Given the description of an element on the screen output the (x, y) to click on. 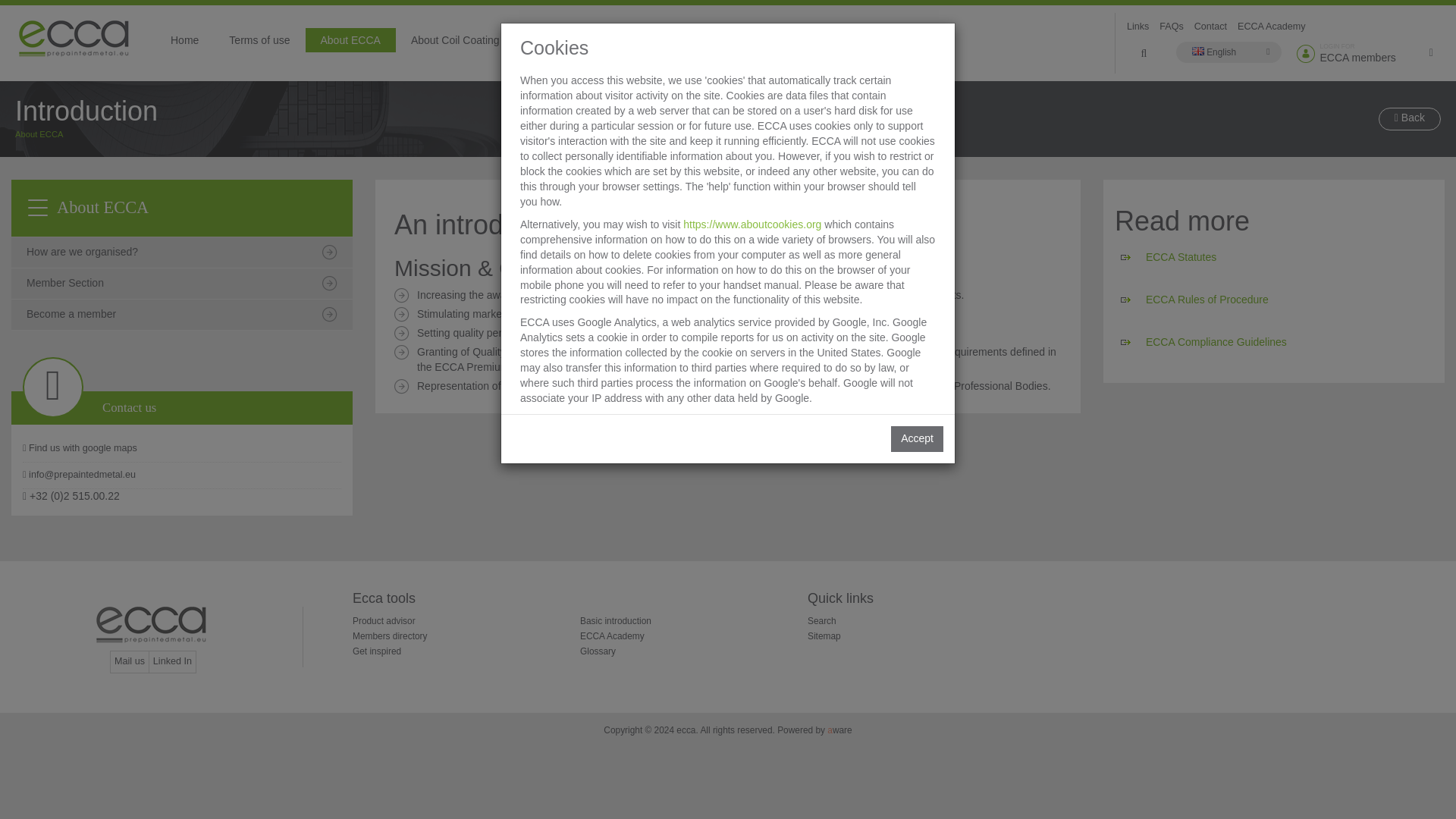
Mail us (129, 661)
How are we organised? (181, 252)
Sustainability (561, 39)
About ECCA (349, 39)
Back (1409, 118)
English (1370, 53)
Basic introduction (1229, 52)
ECCA Academy (614, 620)
Product advisor (612, 635)
Become a member (383, 620)
About ECCA (181, 314)
Contact (38, 133)
Find us with google maps (1210, 26)
Get inspired (181, 448)
